Given the description of an element on the screen output the (x, y) to click on. 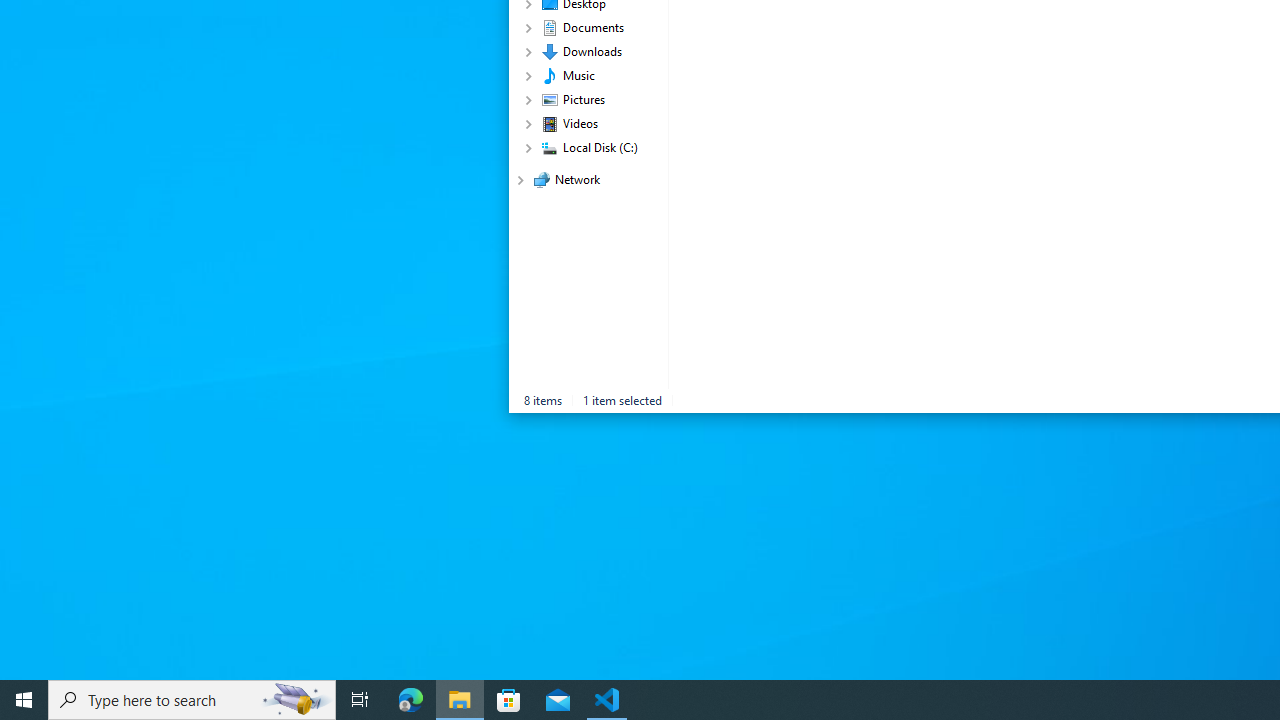
File Explorer - 1 running window (460, 699)
